Given the description of an element on the screen output the (x, y) to click on. 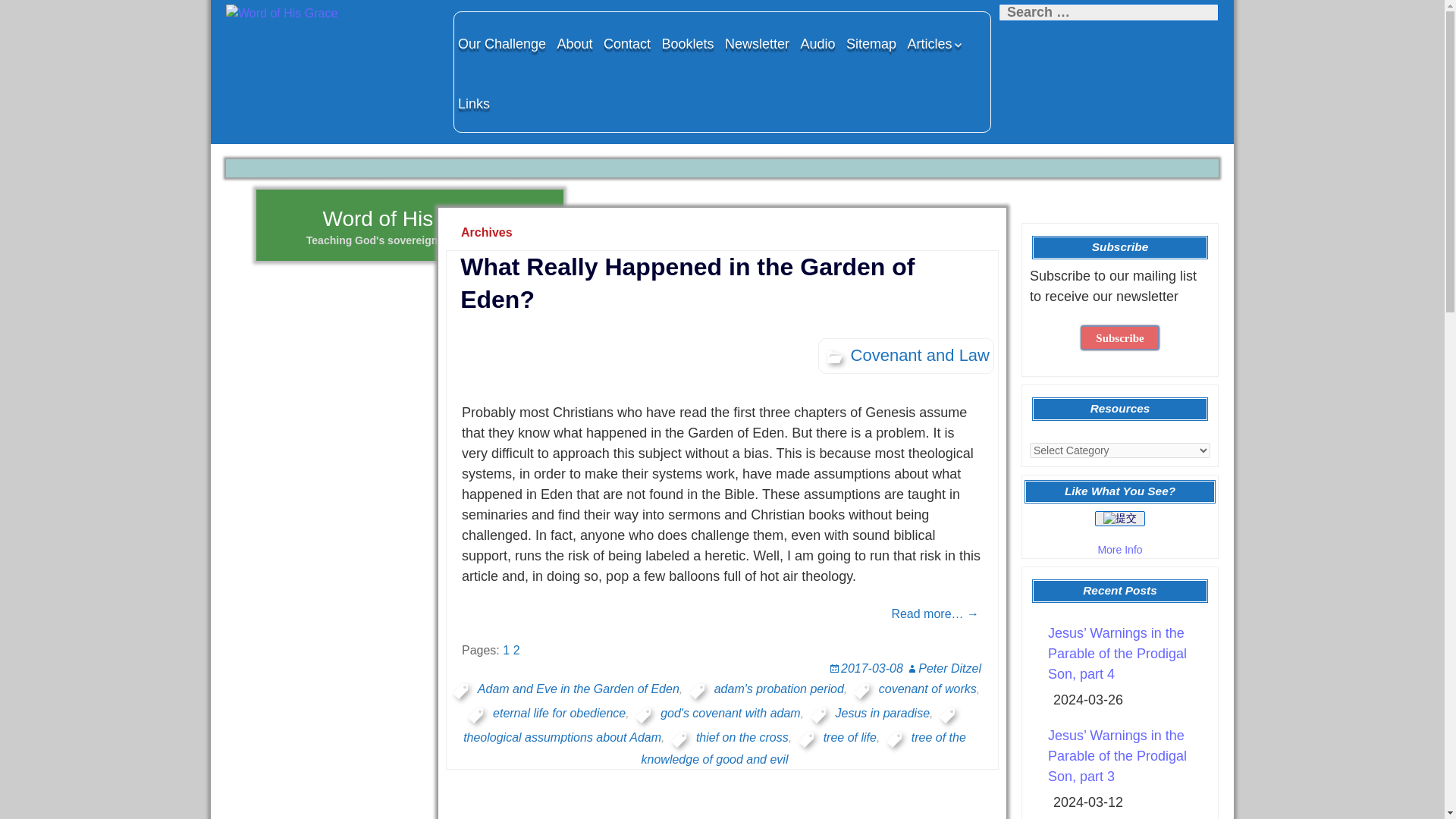
Booklets (687, 43)
Our Challenge (502, 43)
Subscribe to our newsletter (1119, 337)
Articles (936, 43)
Audio (818, 43)
Newsletter (756, 43)
Sitemap (871, 43)
Contact (626, 43)
About (574, 43)
Word of His Grace (331, 13)
